Given the description of an element on the screen output the (x, y) to click on. 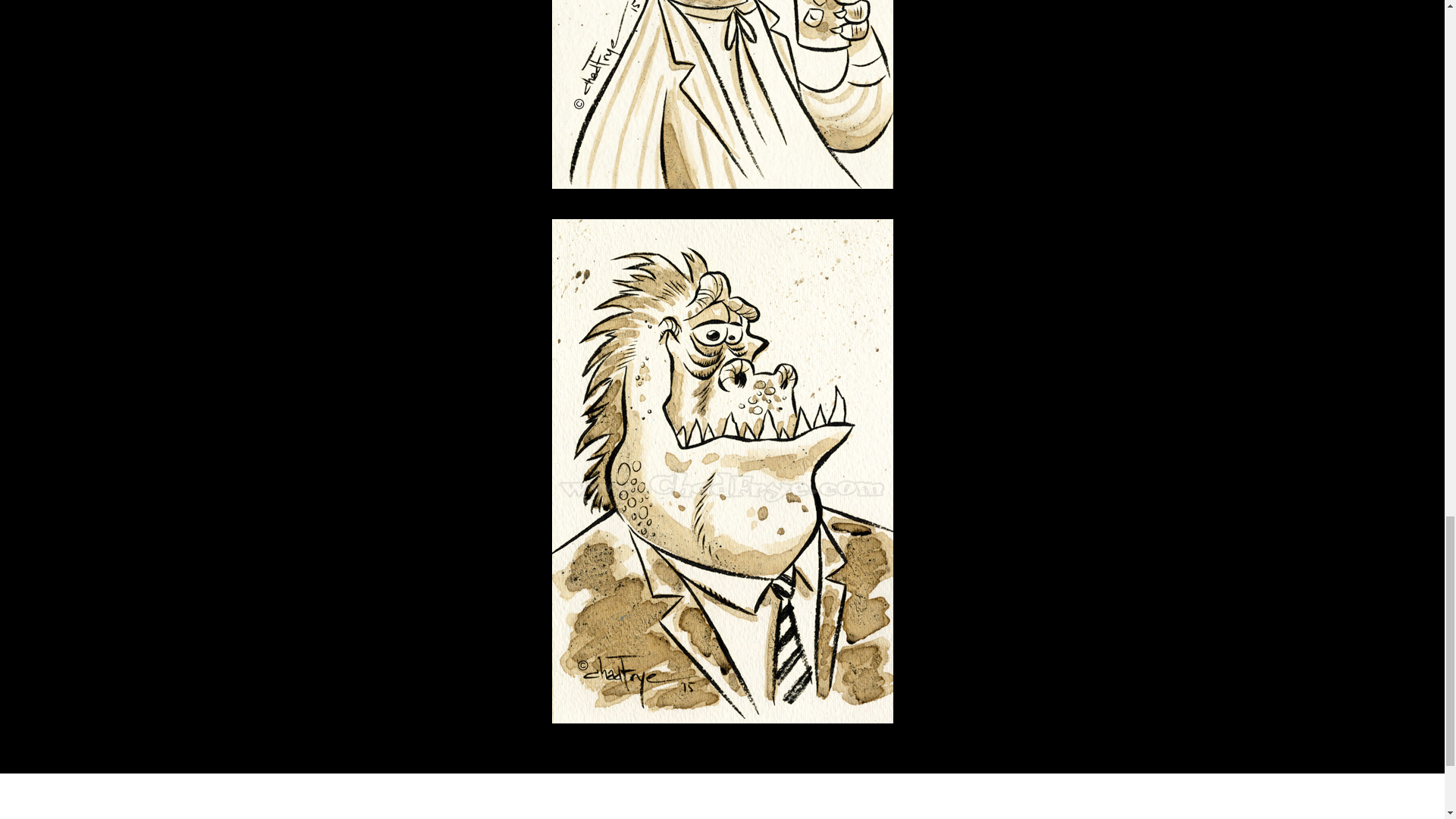
ART: INKING (373, 789)
ART: PAINTING (456, 789)
CHARACTER DESIGNS (670, 789)
MONSTERS (766, 789)
ART: WATERCOLOR (555, 789)
